Given the description of an element on the screen output the (x, y) to click on. 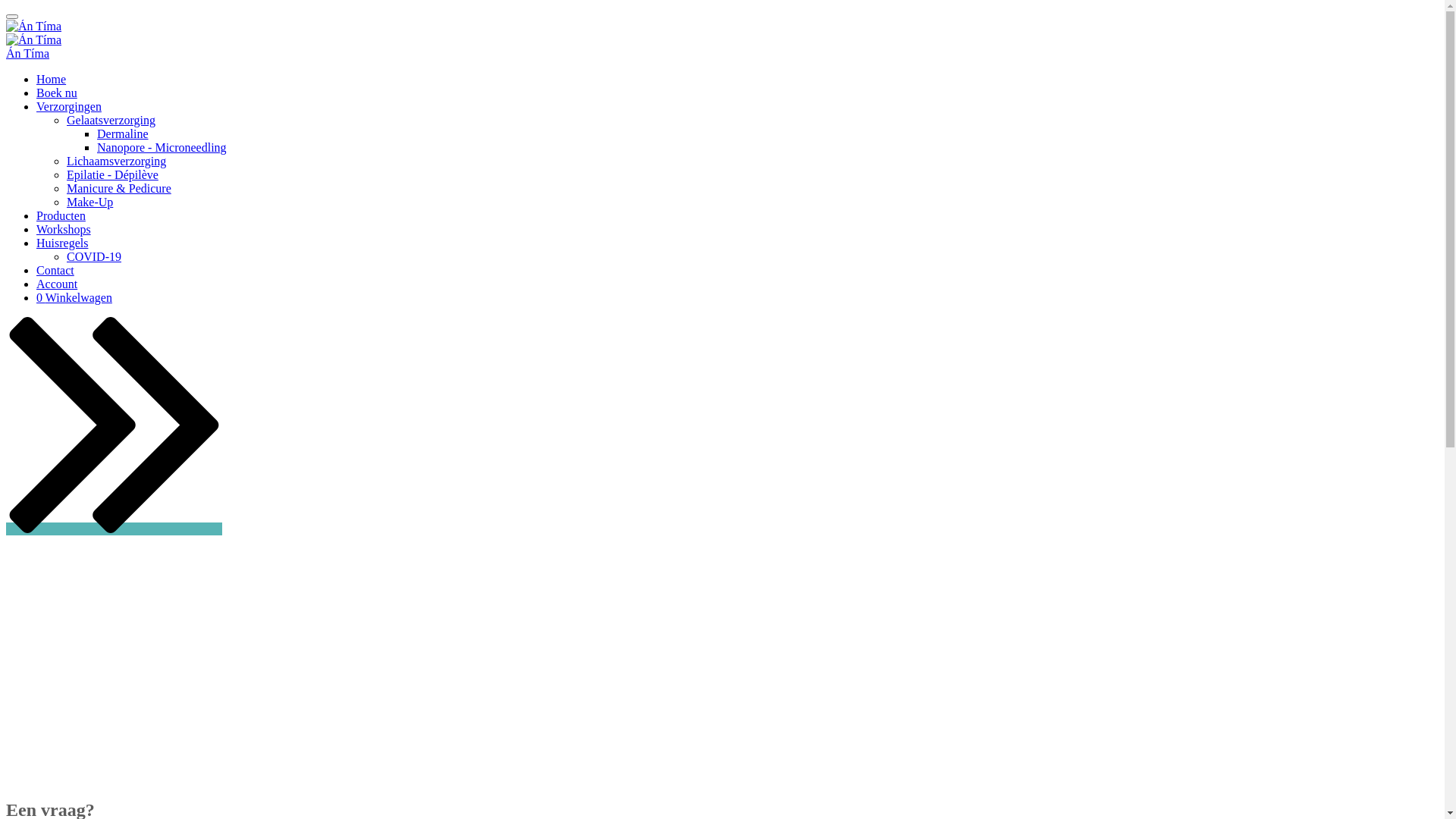
Dermaline Element type: text (122, 133)
Verzorgingen Element type: text (68, 106)
Account Element type: text (56, 283)
Nanopore - Microneedling Element type: text (161, 147)
Gelaatsverzorging Element type: text (110, 119)
Boek nu Element type: text (56, 92)
0 Winkelwagen Element type: text (74, 297)
Home Element type: text (50, 78)
Boek nu Element type: text (722, 535)
Workshops Element type: text (63, 228)
Make-Up Element type: text (89, 201)
Manicure & Pedicure Element type: text (118, 188)
Huisregels Element type: text (61, 242)
Lichaamsverzorging Element type: text (116, 160)
Contact Element type: text (55, 269)
Producten Element type: text (60, 215)
COVID-19 Element type: text (93, 256)
